Given the description of an element on the screen output the (x, y) to click on. 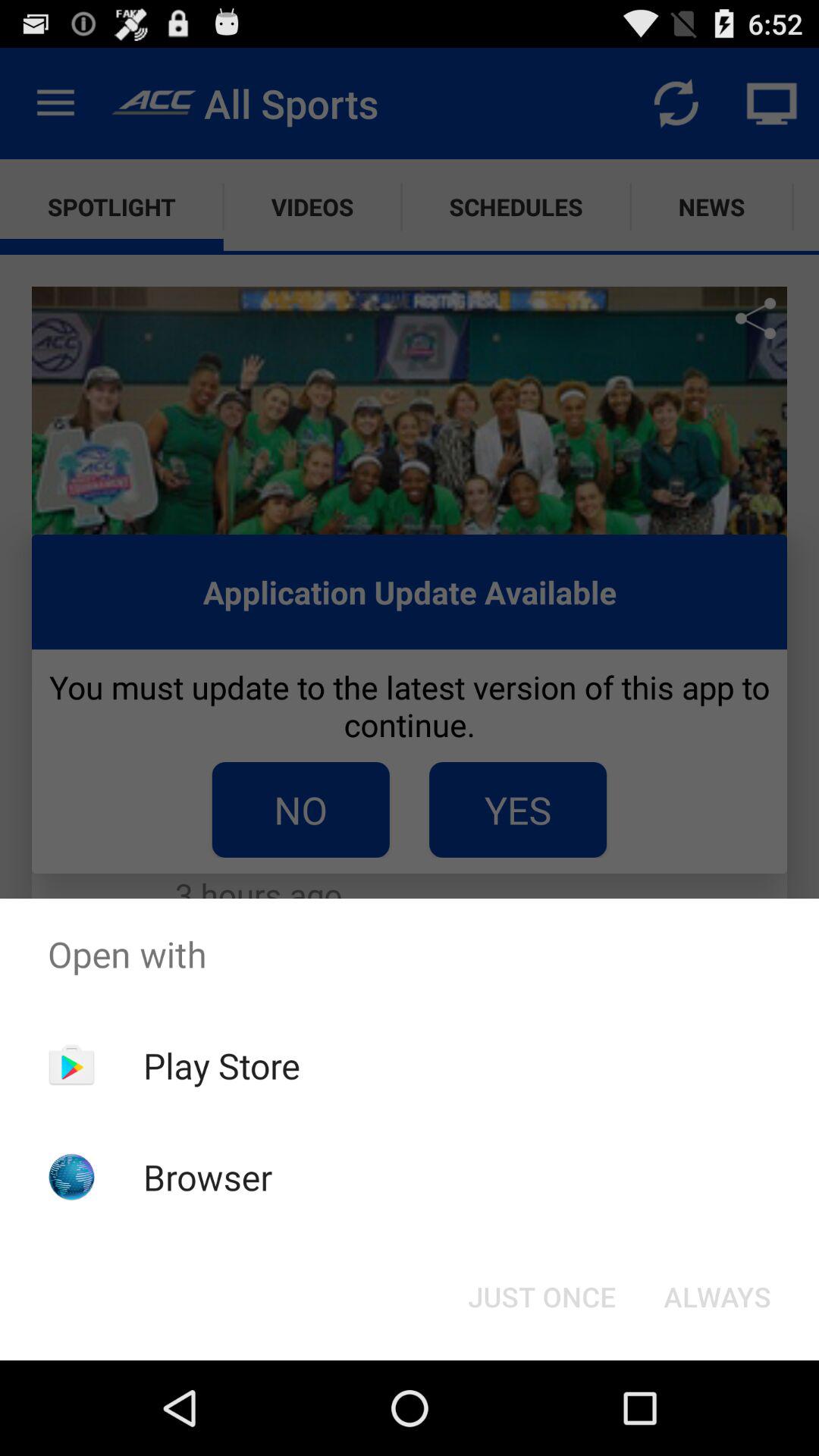
turn on the icon at the bottom (541, 1296)
